Given the description of an element on the screen output the (x, y) to click on. 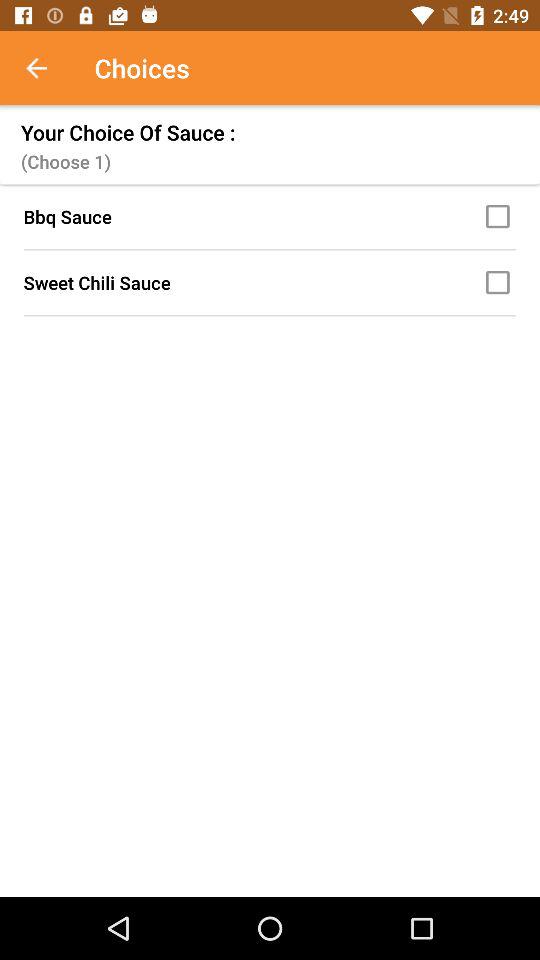
add sweet chili sauce (501, 282)
